Given the description of an element on the screen output the (x, y) to click on. 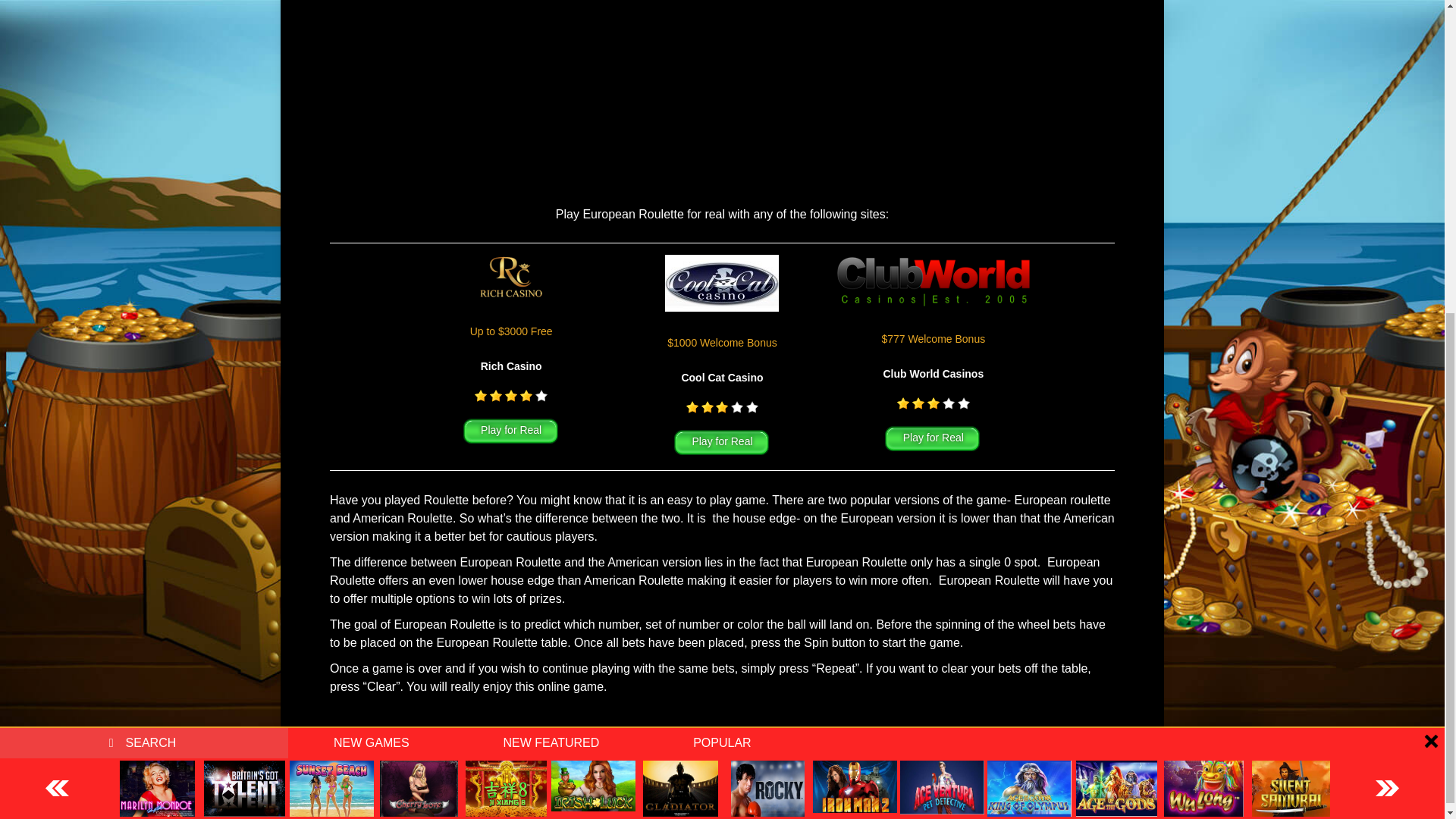
ifreeslots.co (656, 767)
Play for Real (510, 432)
Play for Real (932, 440)
Play for Real (721, 443)
About Us (592, 742)
Search for: (144, 237)
Responsible Gaming (678, 742)
Terms and Conditions (793, 742)
Contact Us (887, 742)
Sitemap (948, 742)
